Given the description of an element on the screen output the (x, y) to click on. 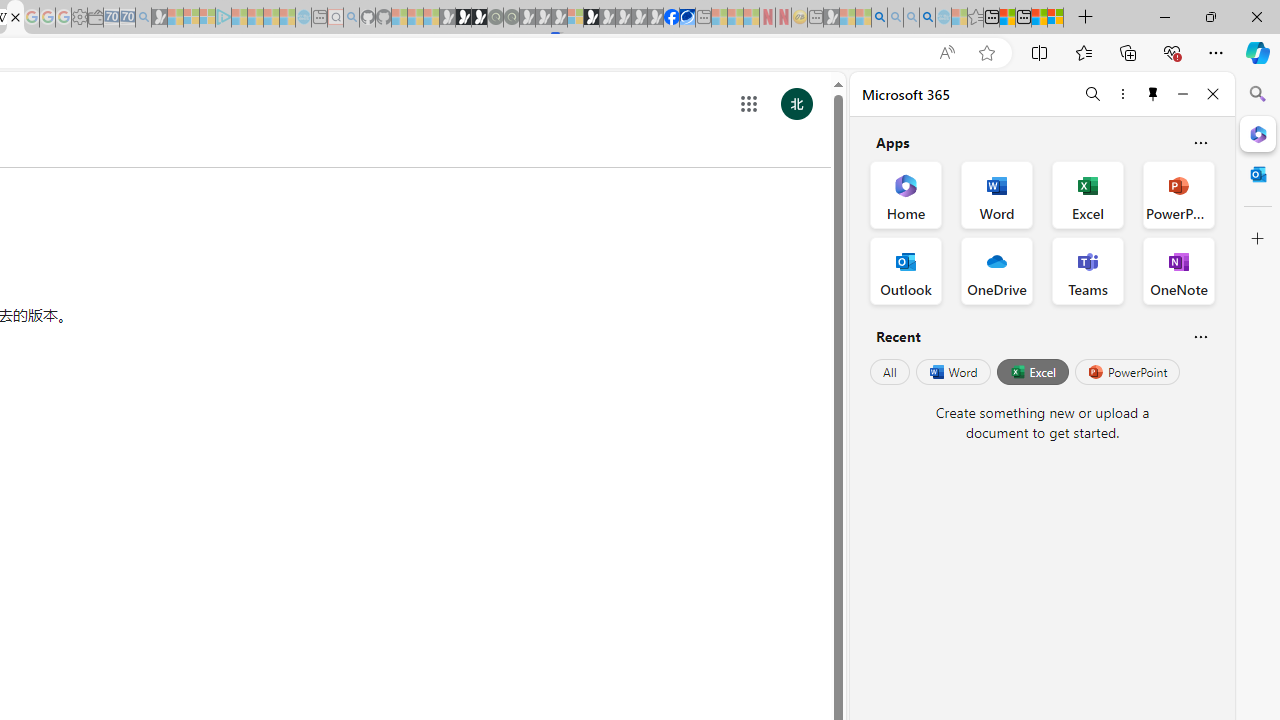
Microsoft Start Gaming - Sleeping (159, 17)
All (890, 372)
Excel (1031, 372)
